Given the description of an element on the screen output the (x, y) to click on. 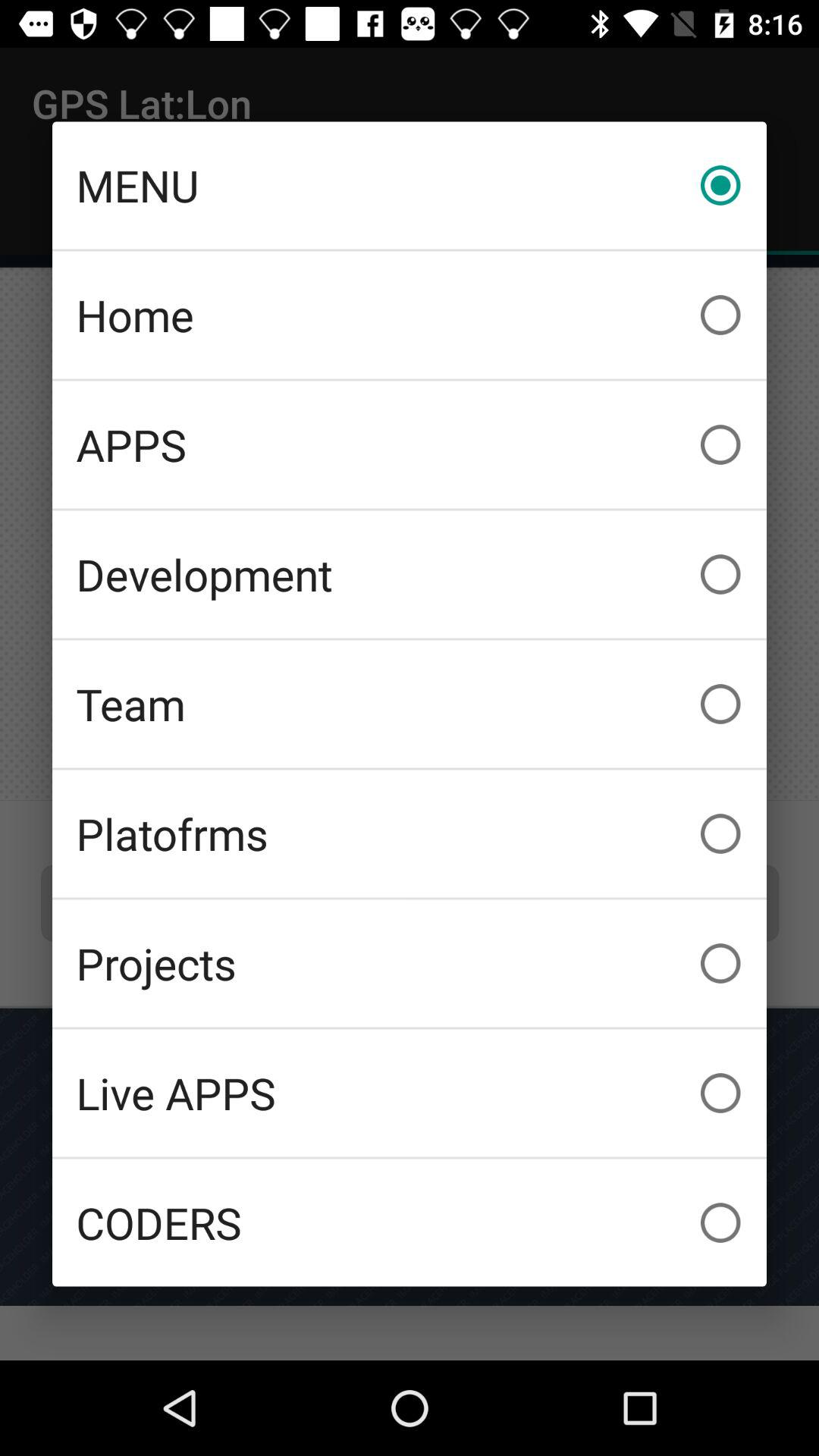
launch the menu item (409, 185)
